Given the description of an element on the screen output the (x, y) to click on. 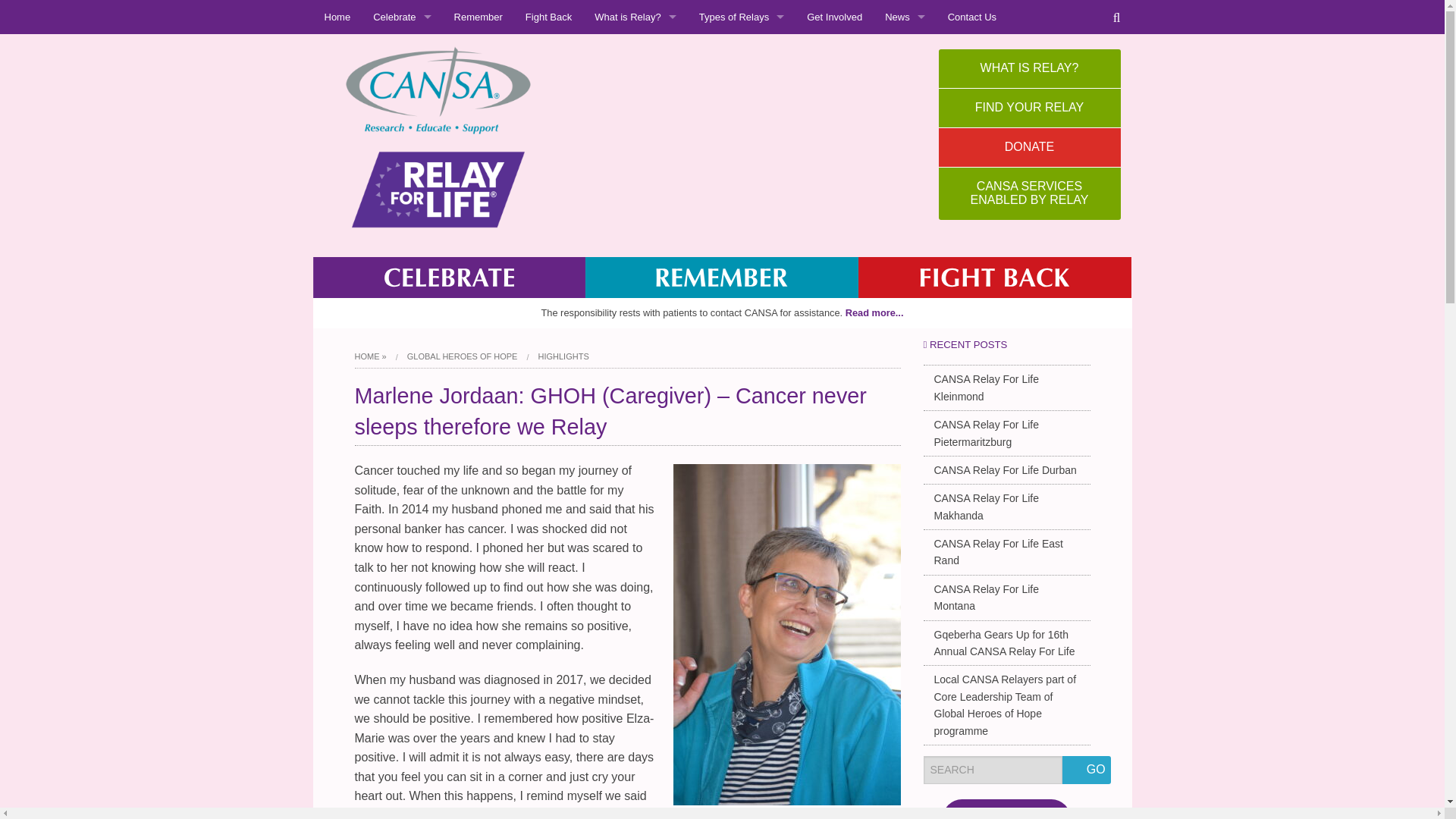
What is Relay? (635, 17)
Share Your Relay Experience (741, 121)
Types of Relays (635, 86)
CANSA Relay For Life News (904, 51)
Find Your Relay (741, 86)
Celebrate (401, 17)
Contact Us (971, 17)
Overview (635, 51)
Get Involved (833, 17)
Remember (477, 17)
Caregivers (401, 86)
Sign-up for eNewsletters (904, 155)
Introduction (741, 51)
Home (337, 17)
Resource Library (741, 155)
